Given the description of an element on the screen output the (x, y) to click on. 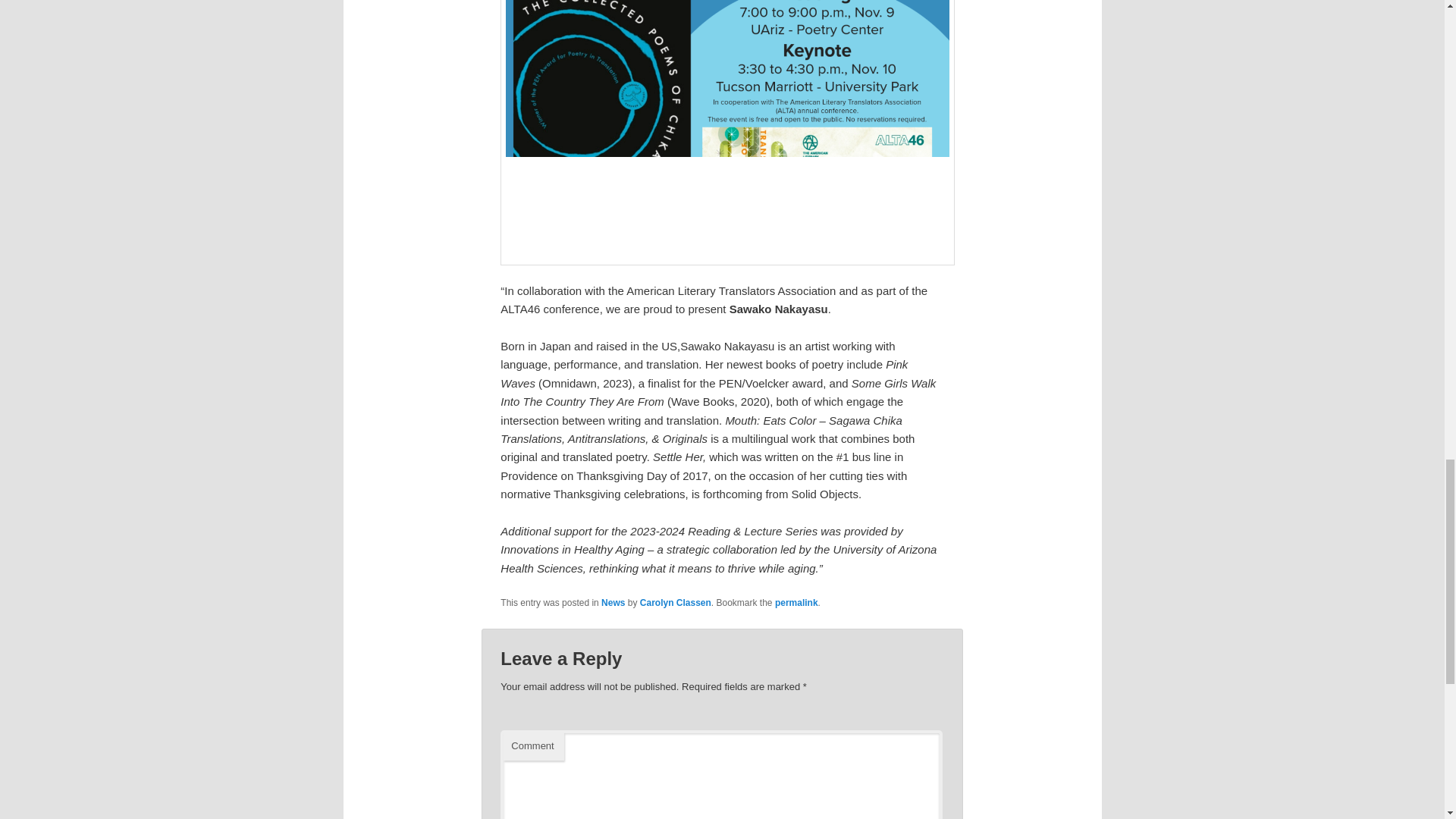
permalink (796, 602)
News (612, 602)
Carolyn Classen (675, 602)
